Given the description of an element on the screen output the (x, y) to click on. 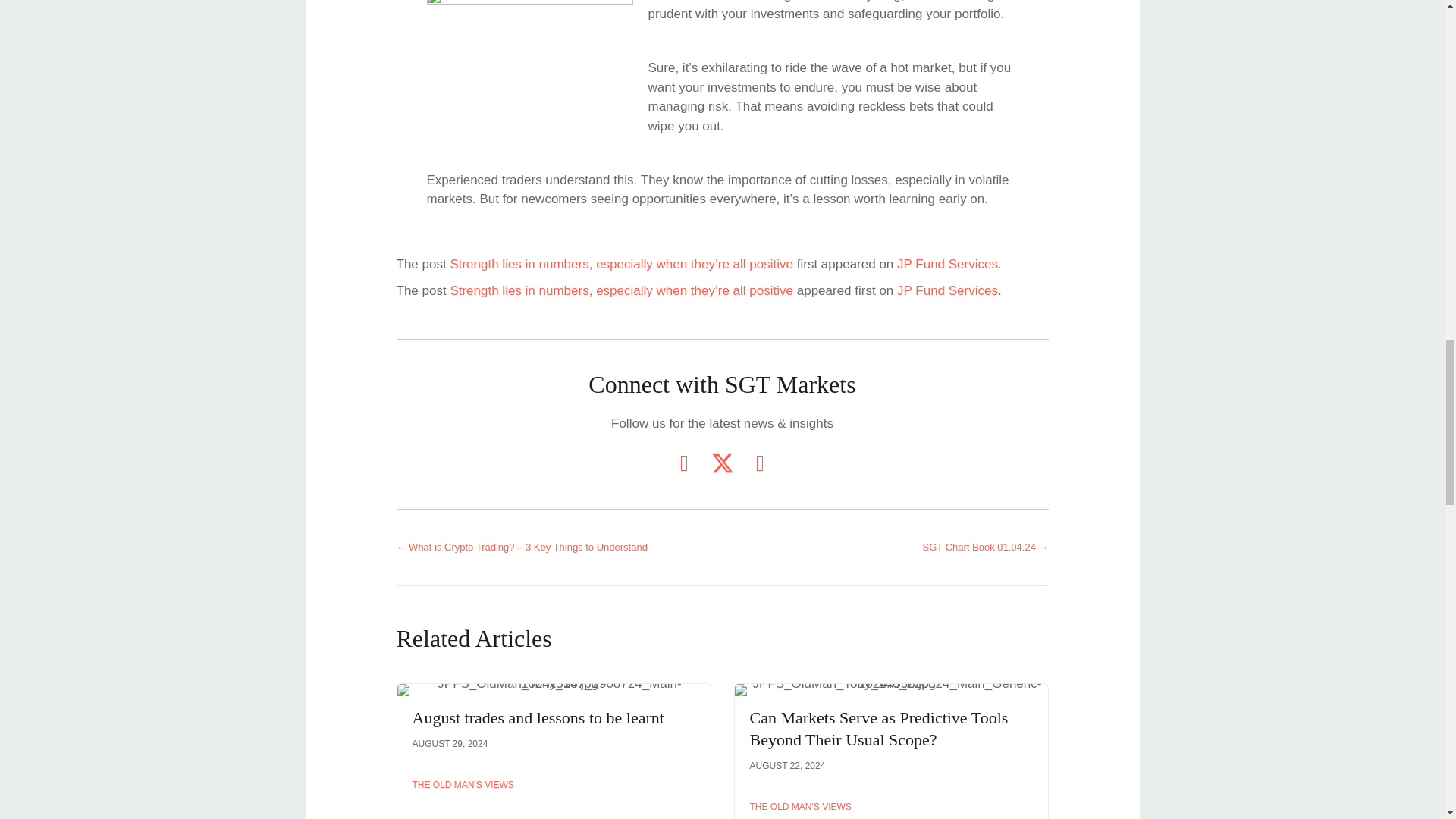
August trades and lessons to be learnt (553, 751)
Facebook (759, 462)
LinkedIn (683, 462)
